Given the description of an element on the screen output the (x, y) to click on. 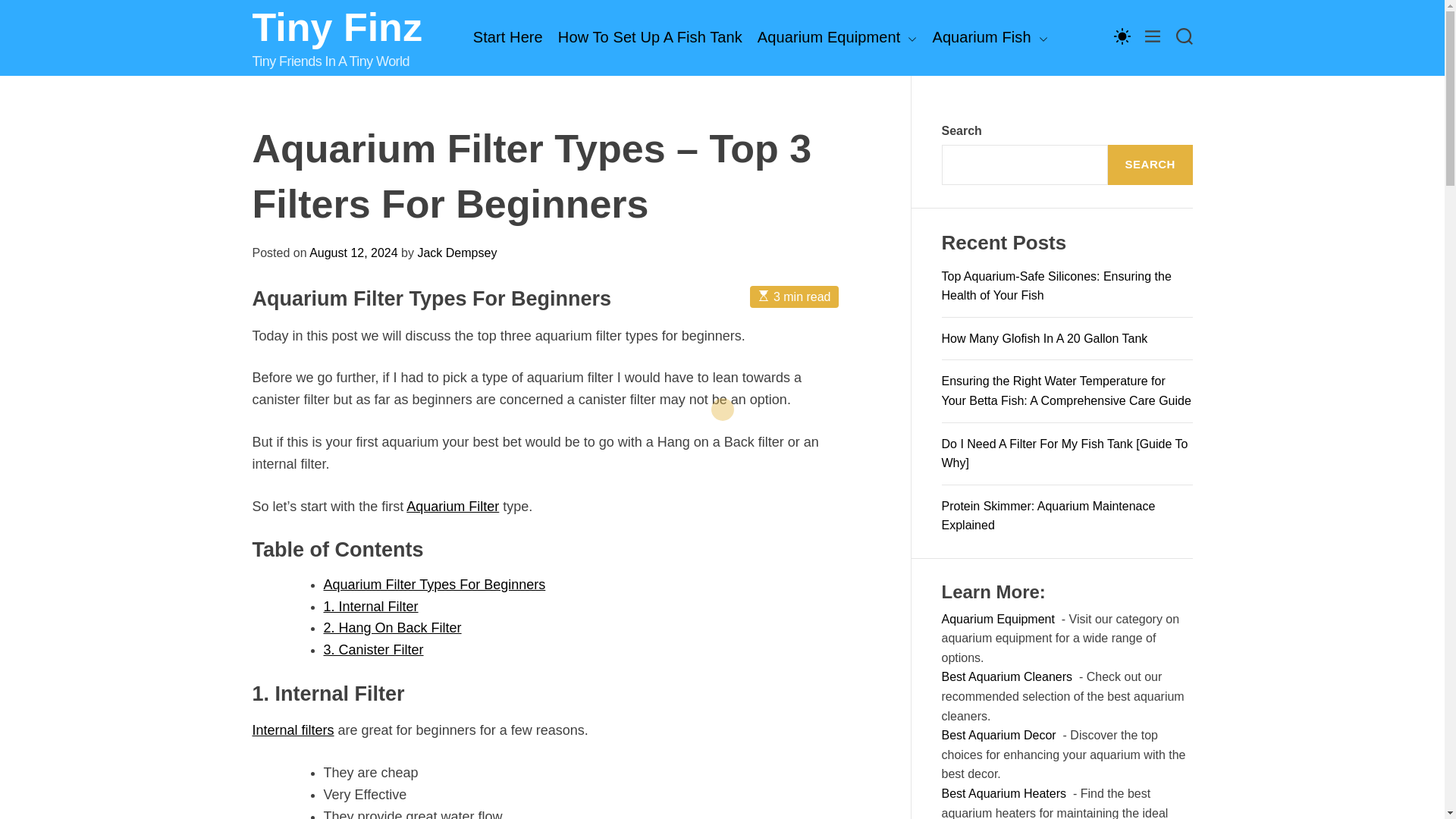
Tiny Finz (336, 26)
SWITCH COLOR MODE (1120, 35)
Start Here (508, 37)
Aquarium Fish (988, 37)
Aquarium Equipment (837, 37)
How To Set Up A Fish Tank (649, 37)
Aquarium Filter (452, 506)
